Given the description of an element on the screen output the (x, y) to click on. 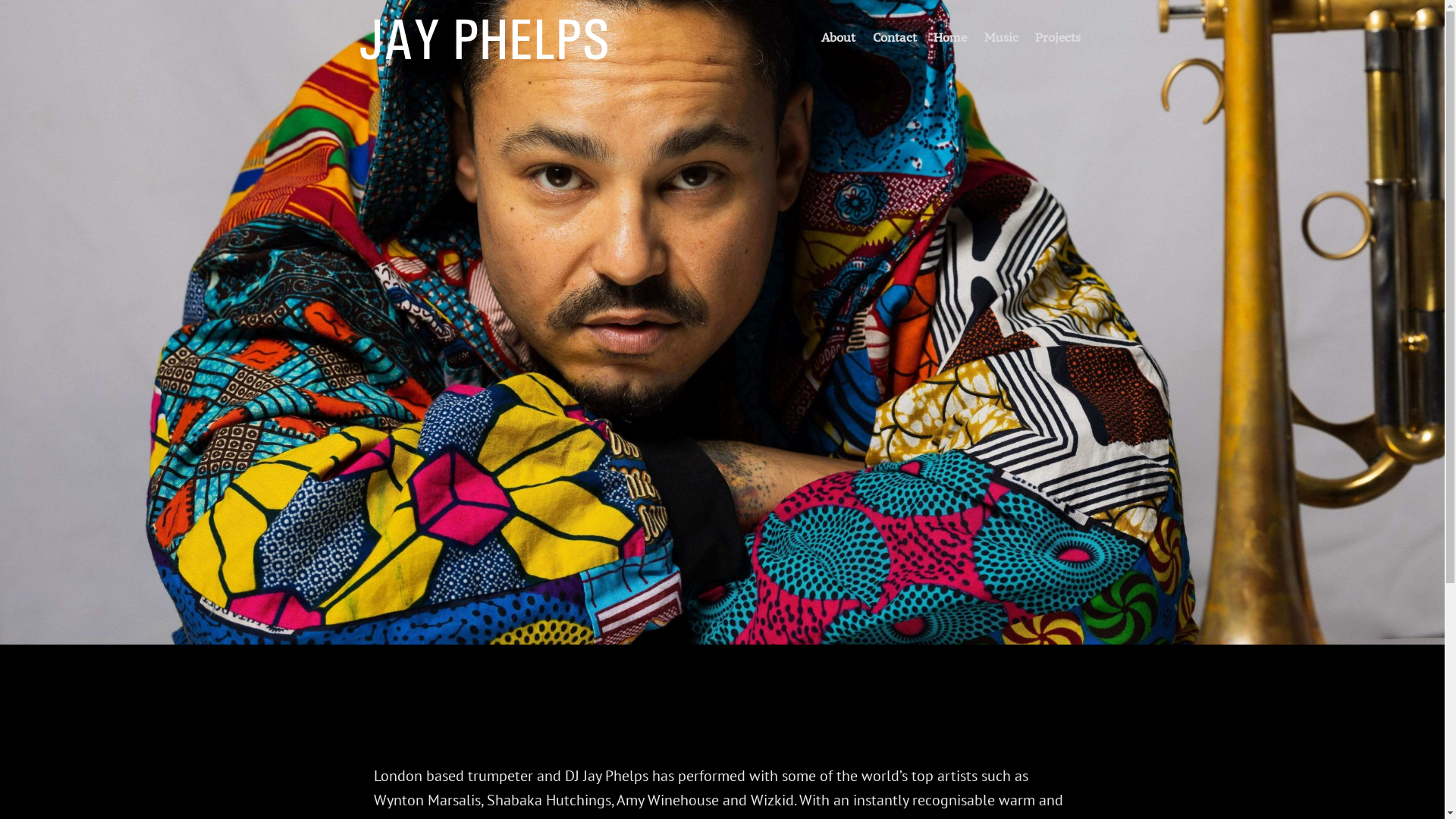
Home Element type: text (949, 36)
Contact Element type: text (894, 36)
Projects Element type: text (1057, 36)
About Element type: text (838, 36)
Music Element type: text (1001, 36)
